Given the description of an element on the screen output the (x, y) to click on. 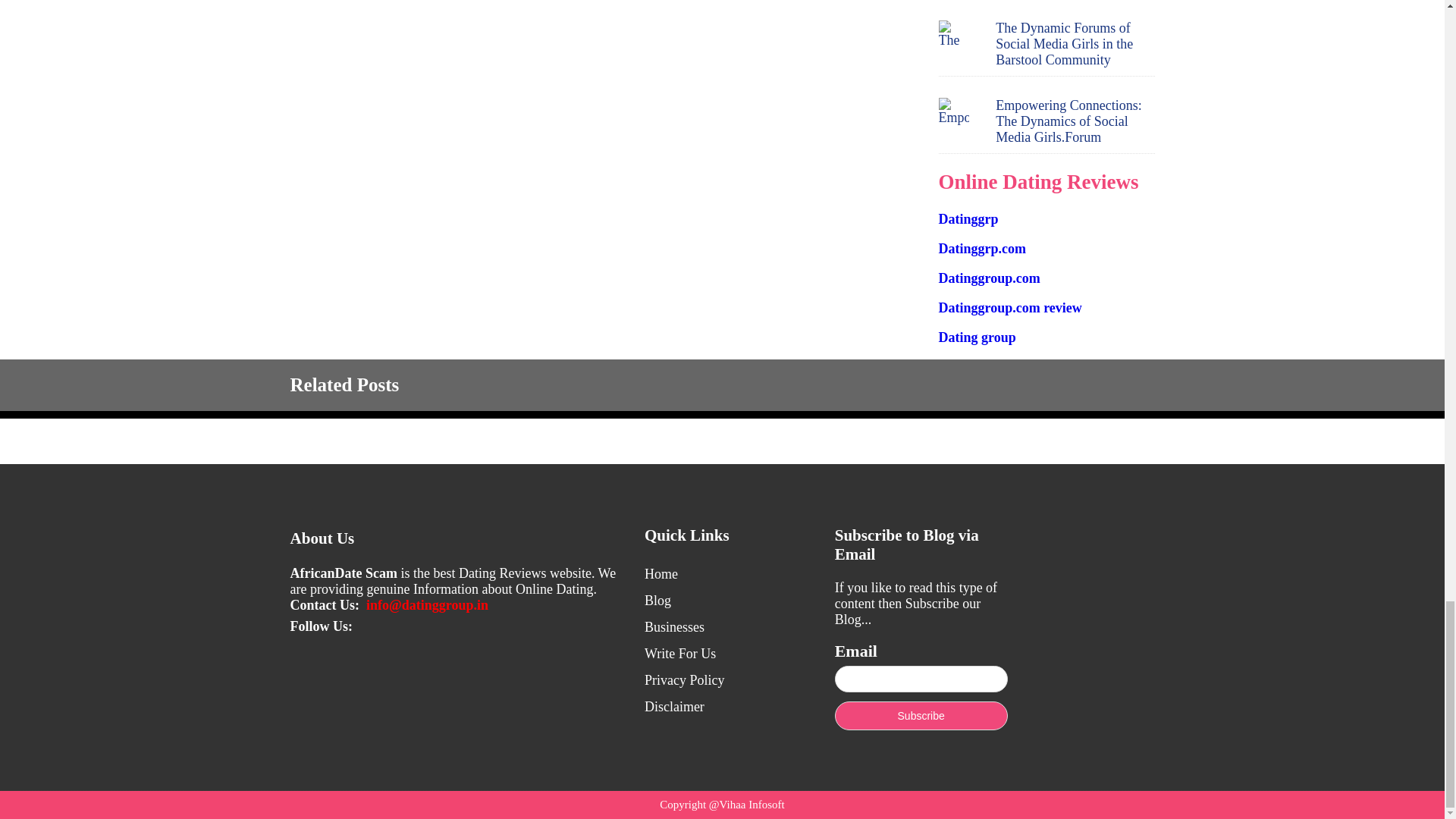
Subscribe (920, 715)
